Given the description of an element on the screen output the (x, y) to click on. 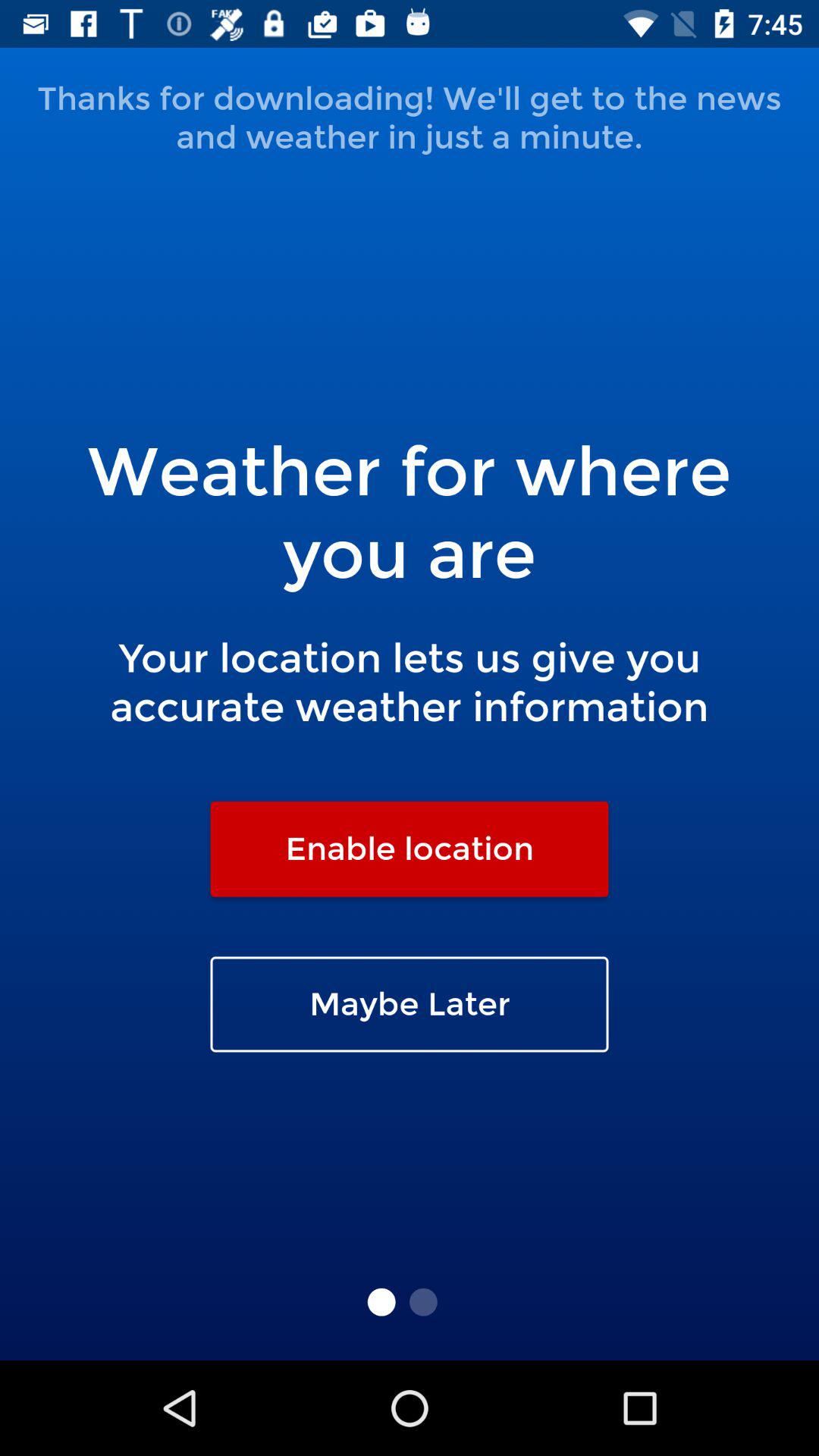
flip to the maybe later (409, 1004)
